Given the description of an element on the screen output the (x, y) to click on. 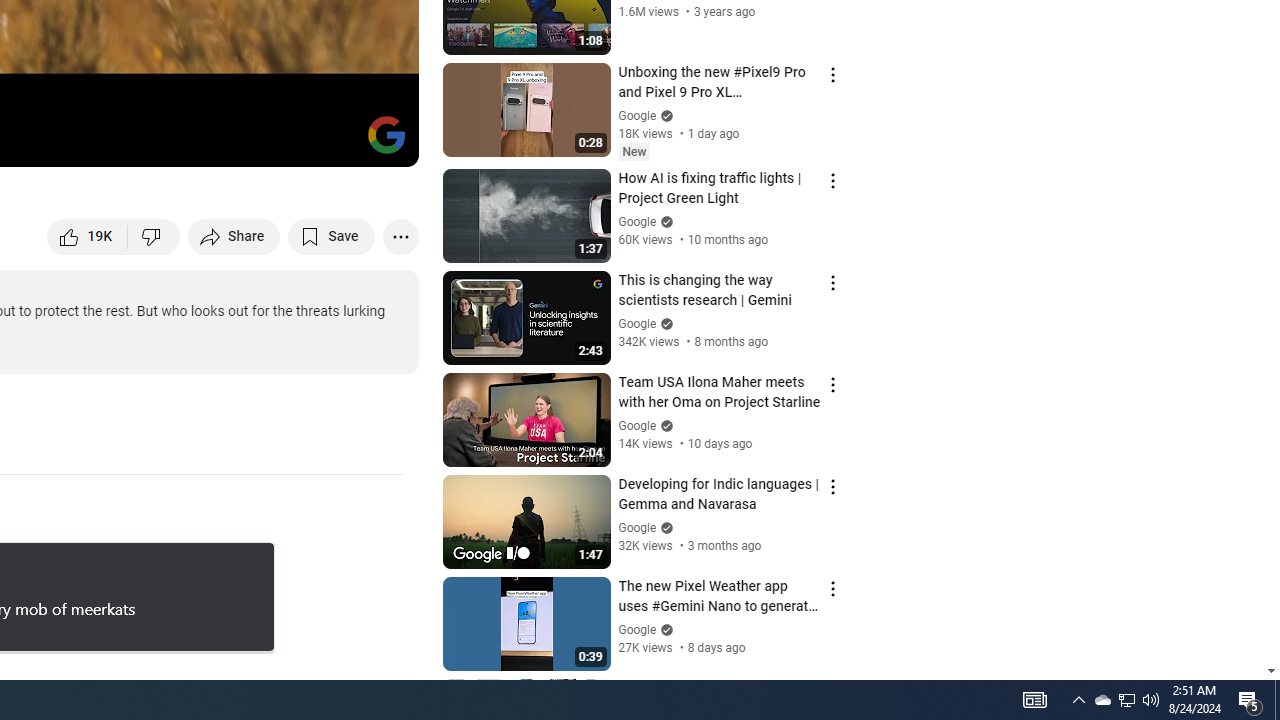
Share (234, 236)
Miniplayer (i) (286, 142)
New (634, 152)
like this video along with 19,267 other people (88, 236)
Full screen (f) (382, 142)
Dislike this video (154, 236)
Autoplay is on (141, 142)
